Given the description of an element on the screen output the (x, y) to click on. 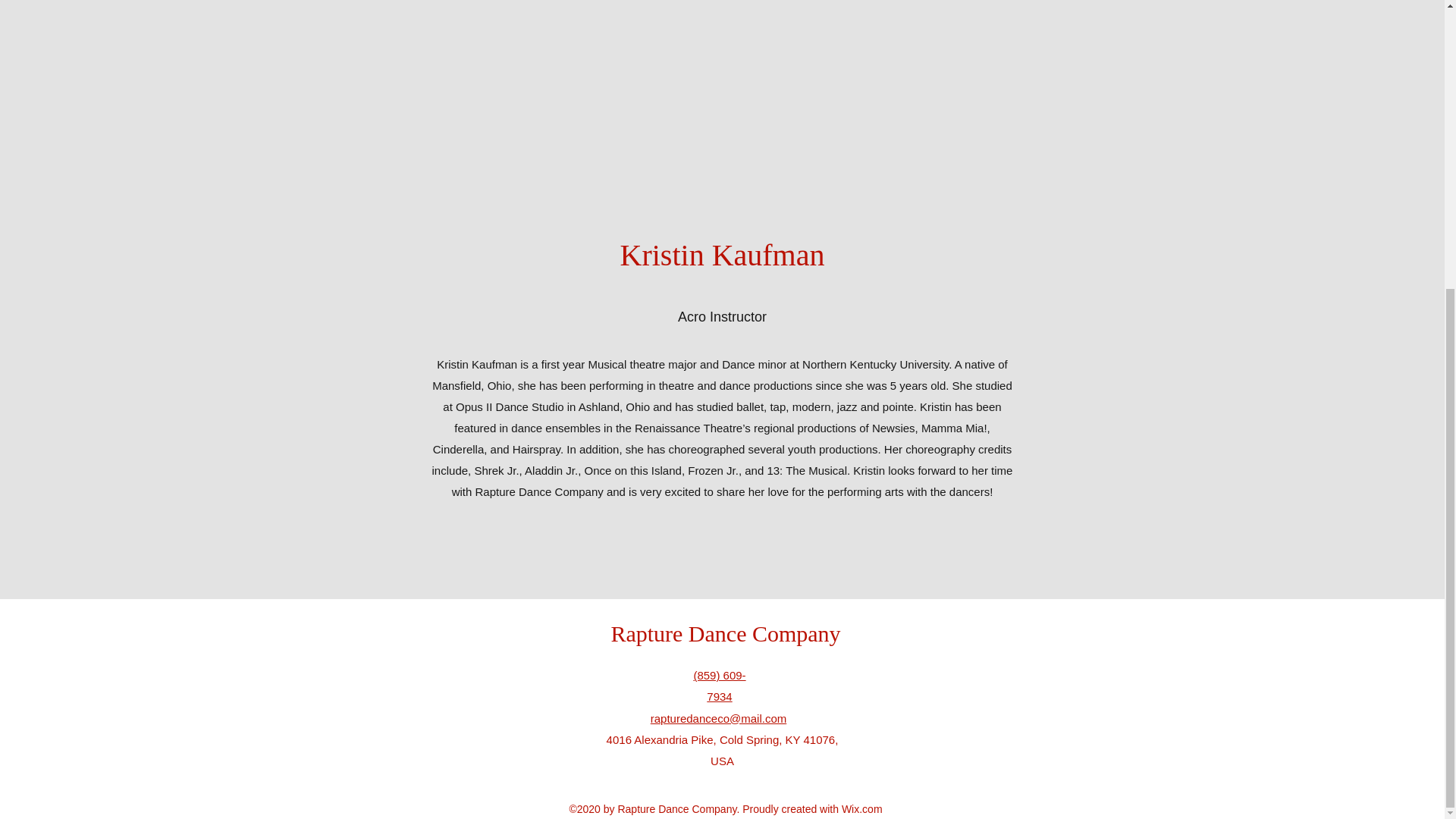
Rapture Dance Company (725, 633)
